Given the description of an element on the screen output the (x, y) to click on. 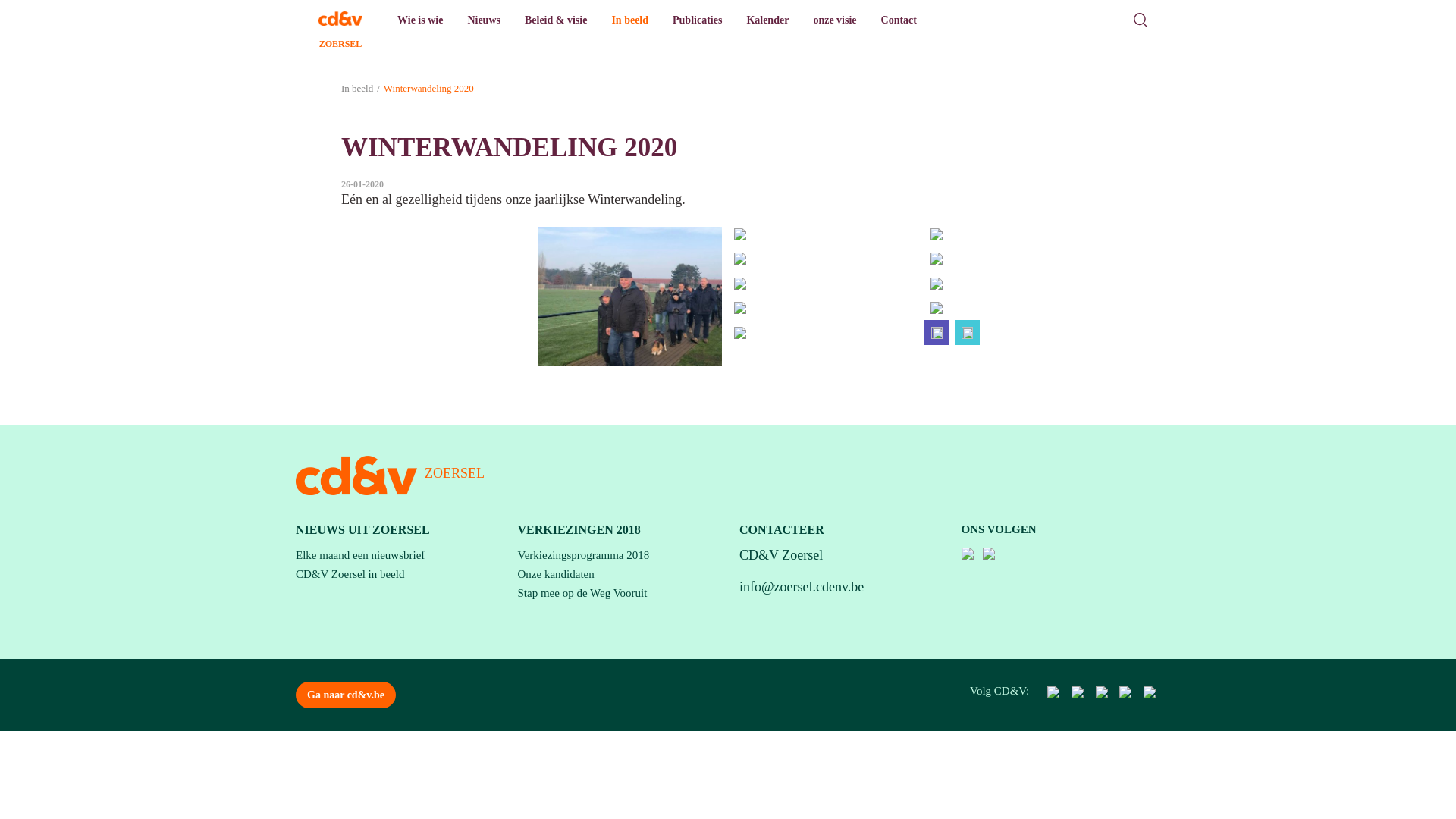
Search Element type: hover (1140, 19)
Publicaties Element type: text (697, 20)
ZOERSEL Element type: text (340, 19)
Verkiezingsprogramma 2018 Element type: text (583, 555)
info@zoersel.cdenv.be Element type: text (801, 586)
onze visie Element type: text (834, 20)
CD&V Zoersel in beeld Element type: text (349, 573)
In beeld Element type: text (629, 20)
Twitter Element type: hover (966, 332)
Nieuws Element type: text (483, 20)
Contact Element type: text (898, 20)
In beeld Element type: text (357, 88)
Kalender Element type: text (767, 20)
Beleid & visie Element type: text (555, 20)
Facebook Element type: hover (936, 332)
Wie is wie Element type: text (420, 20)
Stap mee op de Weg Vooruit Element type: text (581, 592)
Onze kandidaten Element type: text (555, 573)
Ga naar cd&v.be Element type: text (345, 694)
Elke maand een nieuwsbrief Element type: text (359, 555)
